Given the description of an element on the screen output the (x, y) to click on. 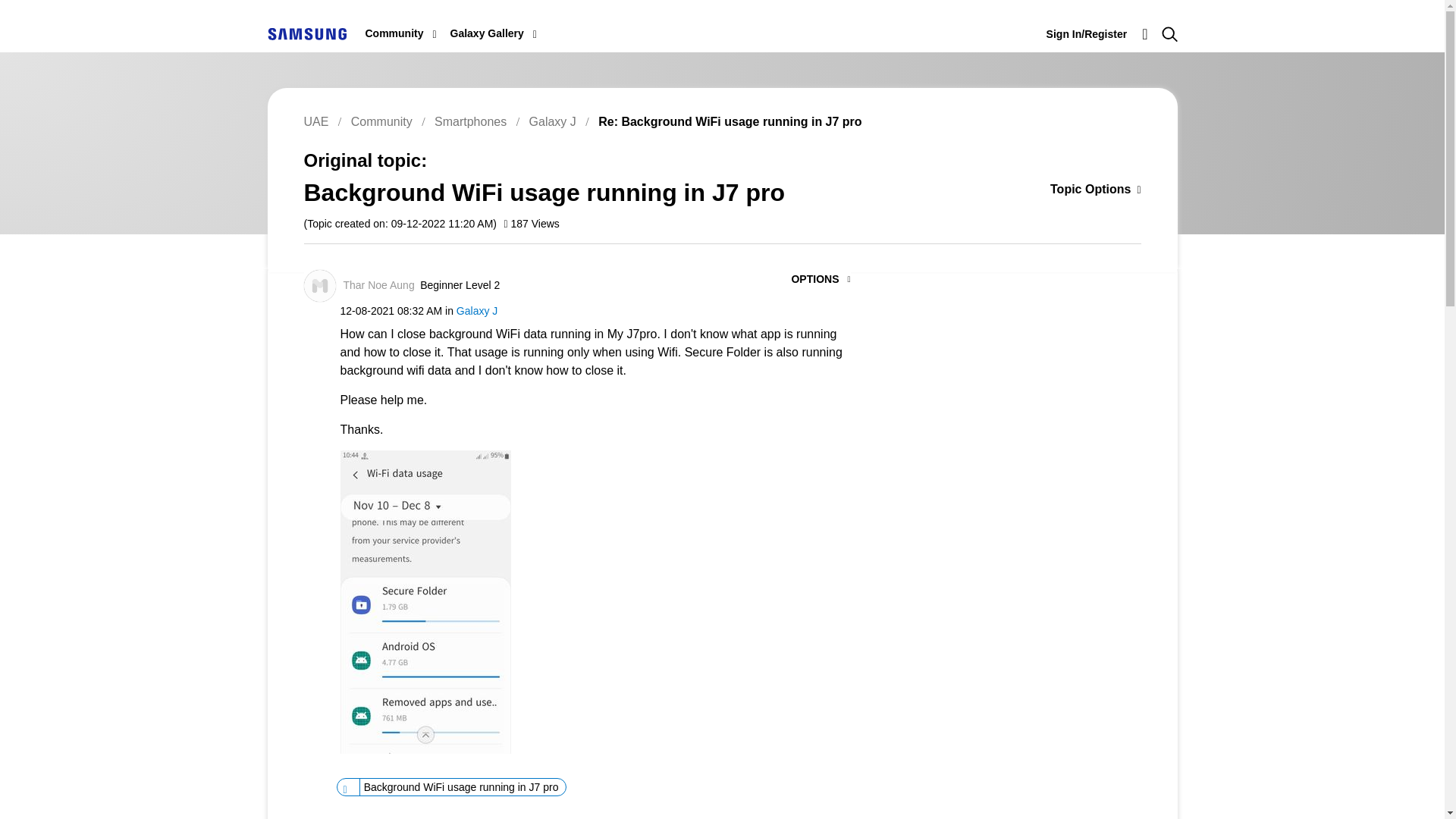
Community (394, 33)
UAE (306, 33)
Galaxy Gallery (486, 33)
Galaxy Gallery (486, 33)
Community (394, 33)
UAE (306, 33)
